Given the description of an element on the screen output the (x, y) to click on. 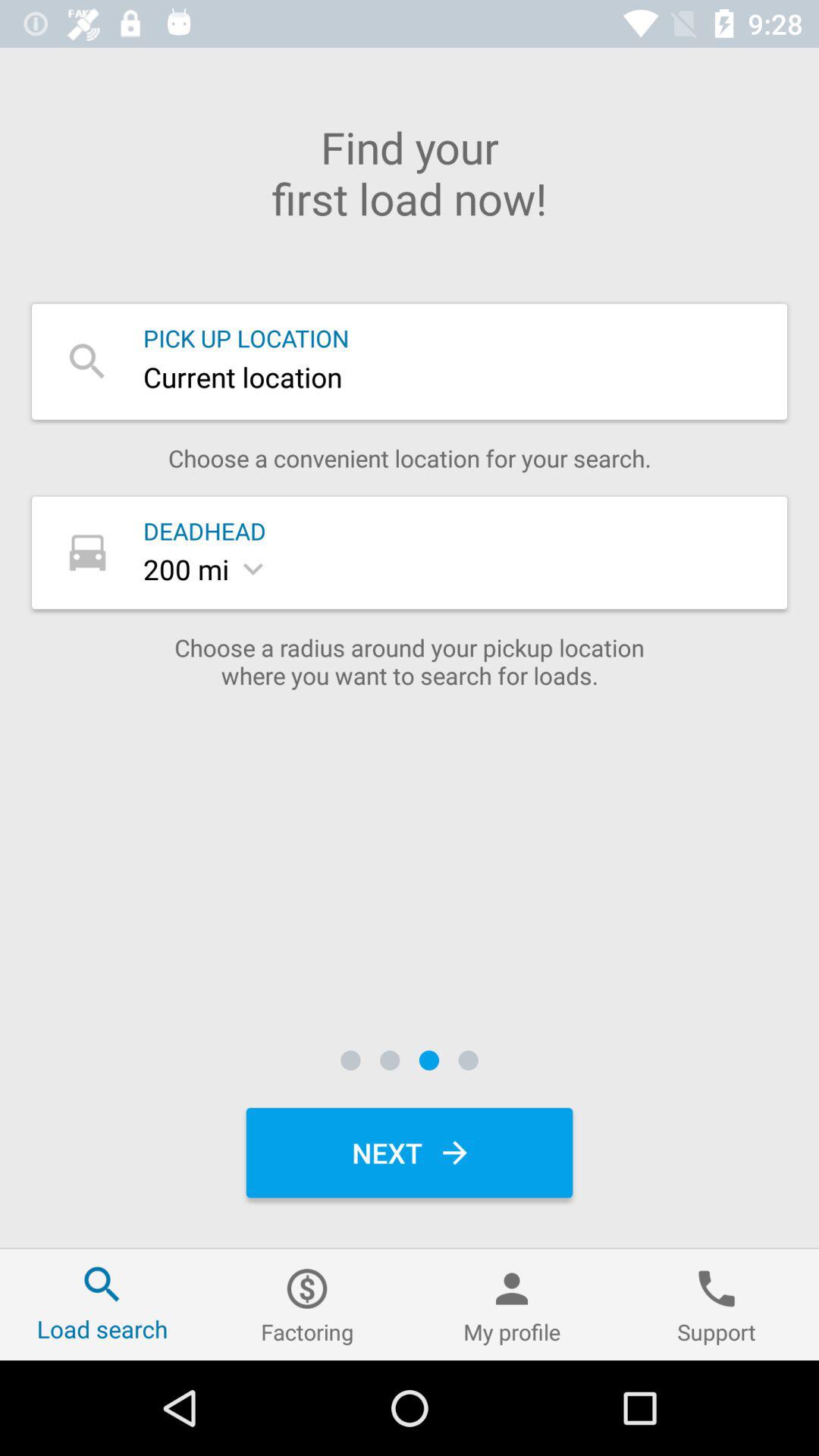
turn on item to the left of the factoring (102, 1304)
